Given the description of an element on the screen output the (x, y) to click on. 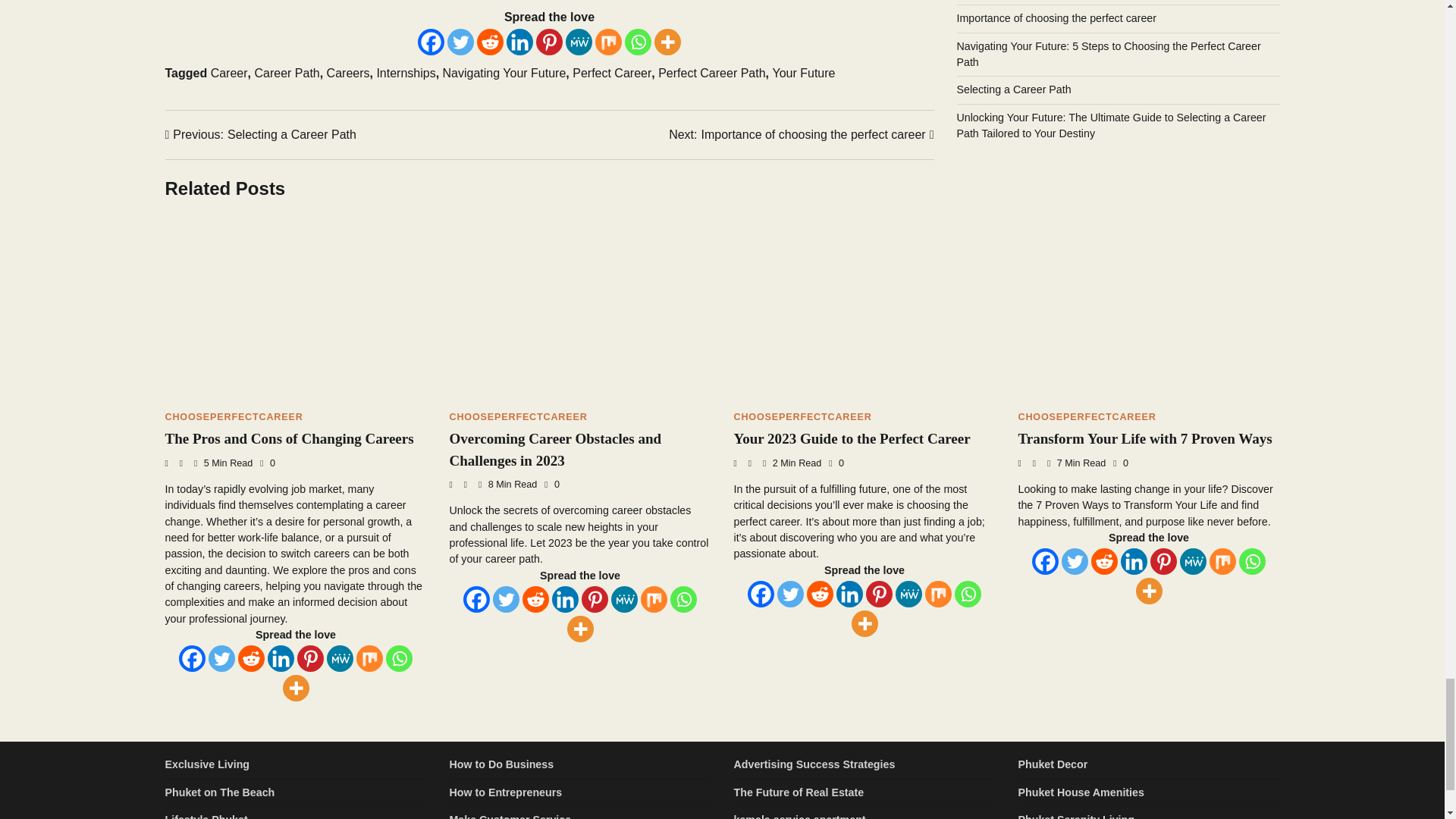
Career Path (285, 72)
Pinterest (548, 41)
Linkedin (519, 41)
Whatsapp (637, 41)
Twitter (460, 41)
Career (229, 72)
MeWe (579, 41)
Facebook (430, 41)
Careers (347, 72)
Reddit (490, 41)
